Given the description of an element on the screen output the (x, y) to click on. 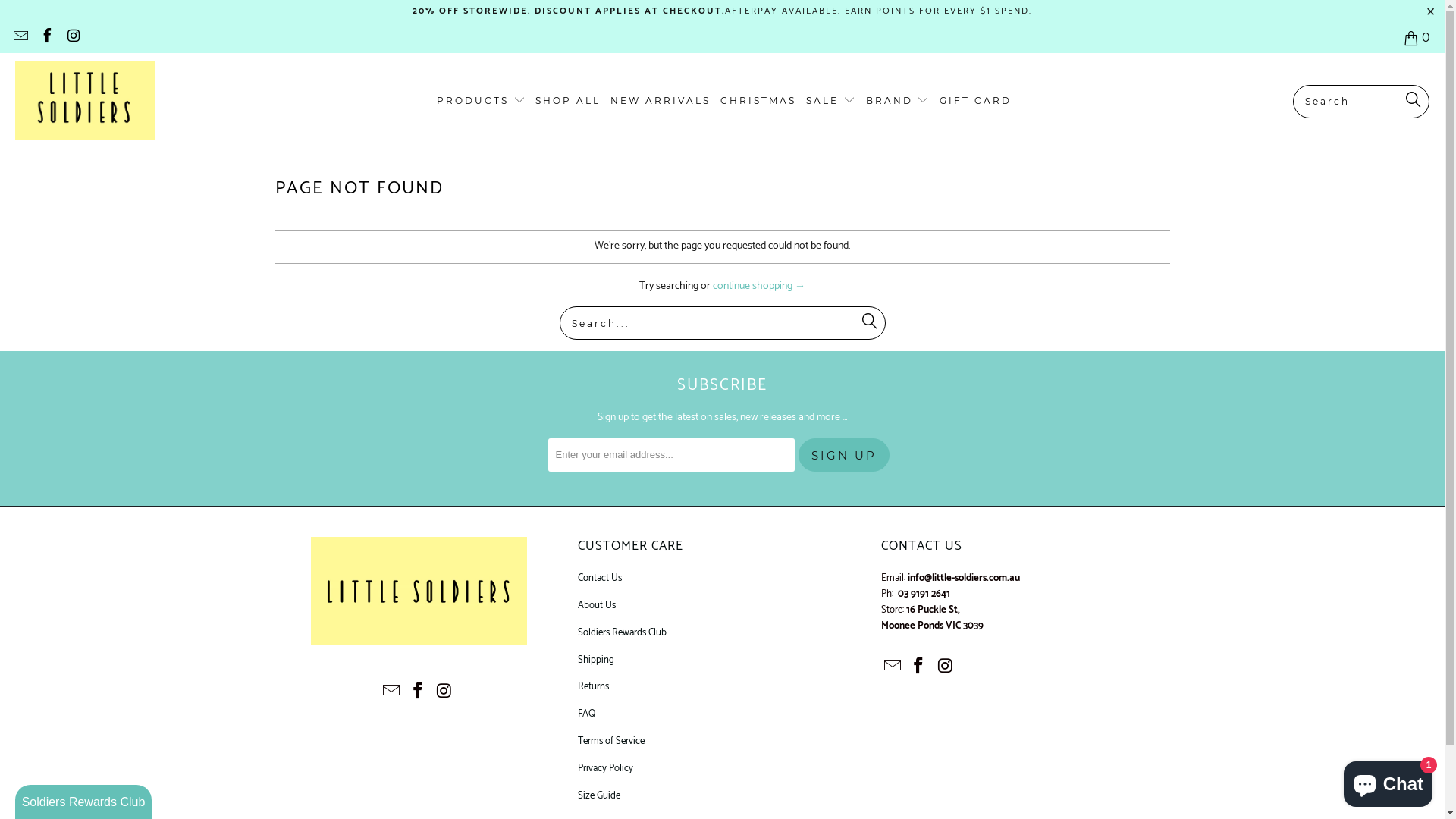
About Us Element type: text (596, 605)
Soldiers Rewards Club Element type: text (621, 632)
Email Little Soldiers Element type: hover (19, 37)
Little Soldiers on Facebook Element type: hover (418, 691)
Little Soldiers on Instagram Element type: hover (945, 666)
0 Element type: text (1417, 37)
Terms of Service Element type: text (610, 741)
Privacy Policy Element type: text (605, 768)
GIFT CARD Element type: text (975, 101)
Little Soldiers Element type: hover (85, 100)
Little Soldiers on Facebook Element type: hover (918, 666)
Sign Up Element type: text (842, 454)
Little Soldiers on Facebook Element type: hover (45, 37)
Shopify online store chat Element type: hover (1388, 780)
SHOP ALL Element type: text (567, 101)
NEW ARRIVALS Element type: text (660, 101)
Size Guide Element type: text (598, 795)
Shipping Element type: text (595, 660)
Contact Us Element type: text (599, 578)
Little Soldiers on Instagram Element type: hover (444, 691)
Email Little Soldiers Element type: hover (892, 666)
Little Soldiers on Instagram Element type: hover (72, 37)
CHRISTMAS Element type: text (758, 101)
Email Little Soldiers Element type: hover (391, 691)
Returns Element type: text (592, 686)
FAQ Element type: text (586, 713)
